Given the description of an element on the screen output the (x, y) to click on. 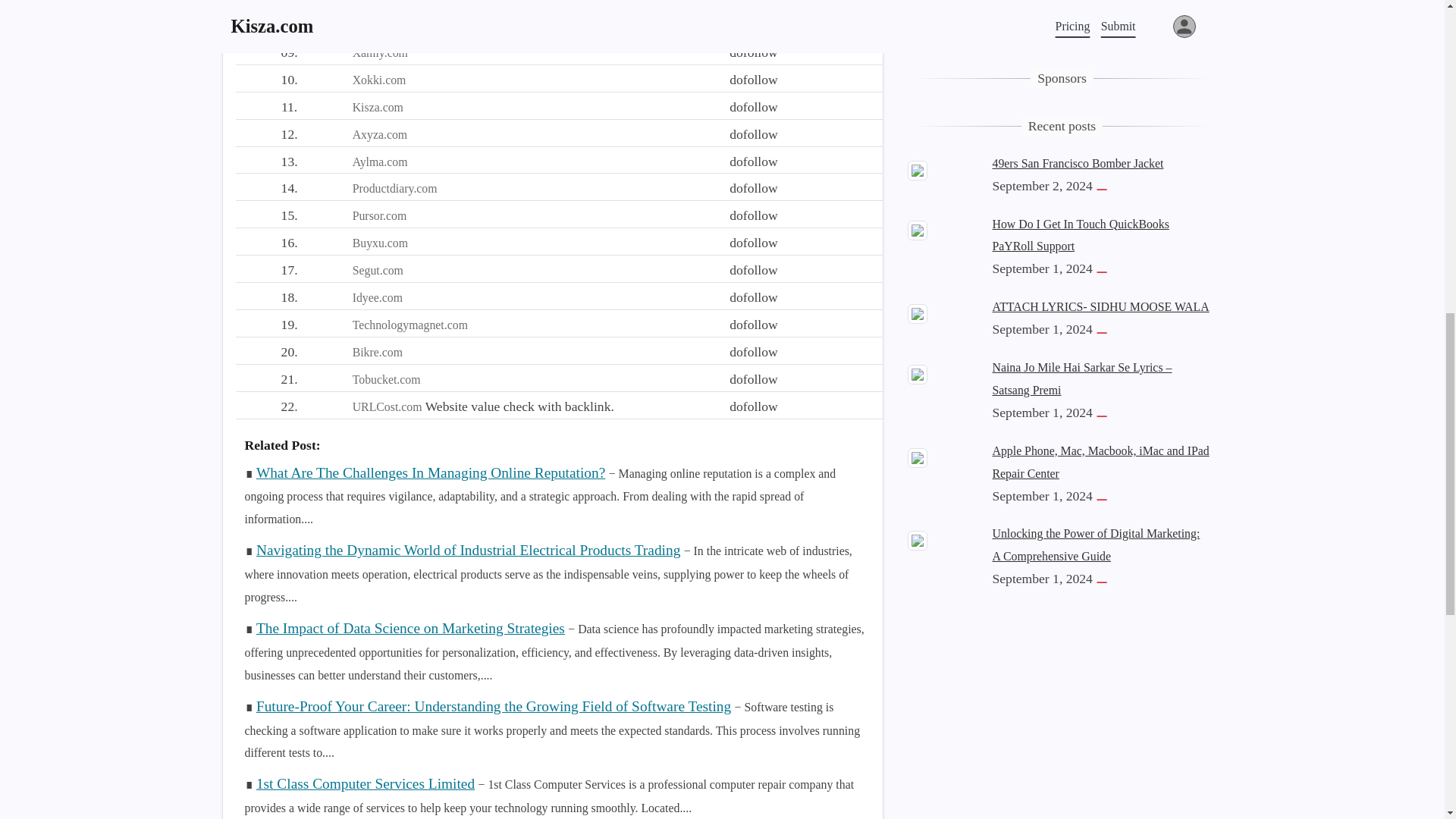
Segut.com (377, 269)
Idyee.com (377, 297)
Pursor.com (379, 215)
The Impact of Data Science on Marketing Strategies (410, 627)
Buyxu.com (379, 242)
Axyza.com (379, 133)
Ghurry.com (381, 24)
Genuinepath.com (395, 2)
What Are The Challenges In Managing Online Reputation? (430, 471)
